Given the description of an element on the screen output the (x, y) to click on. 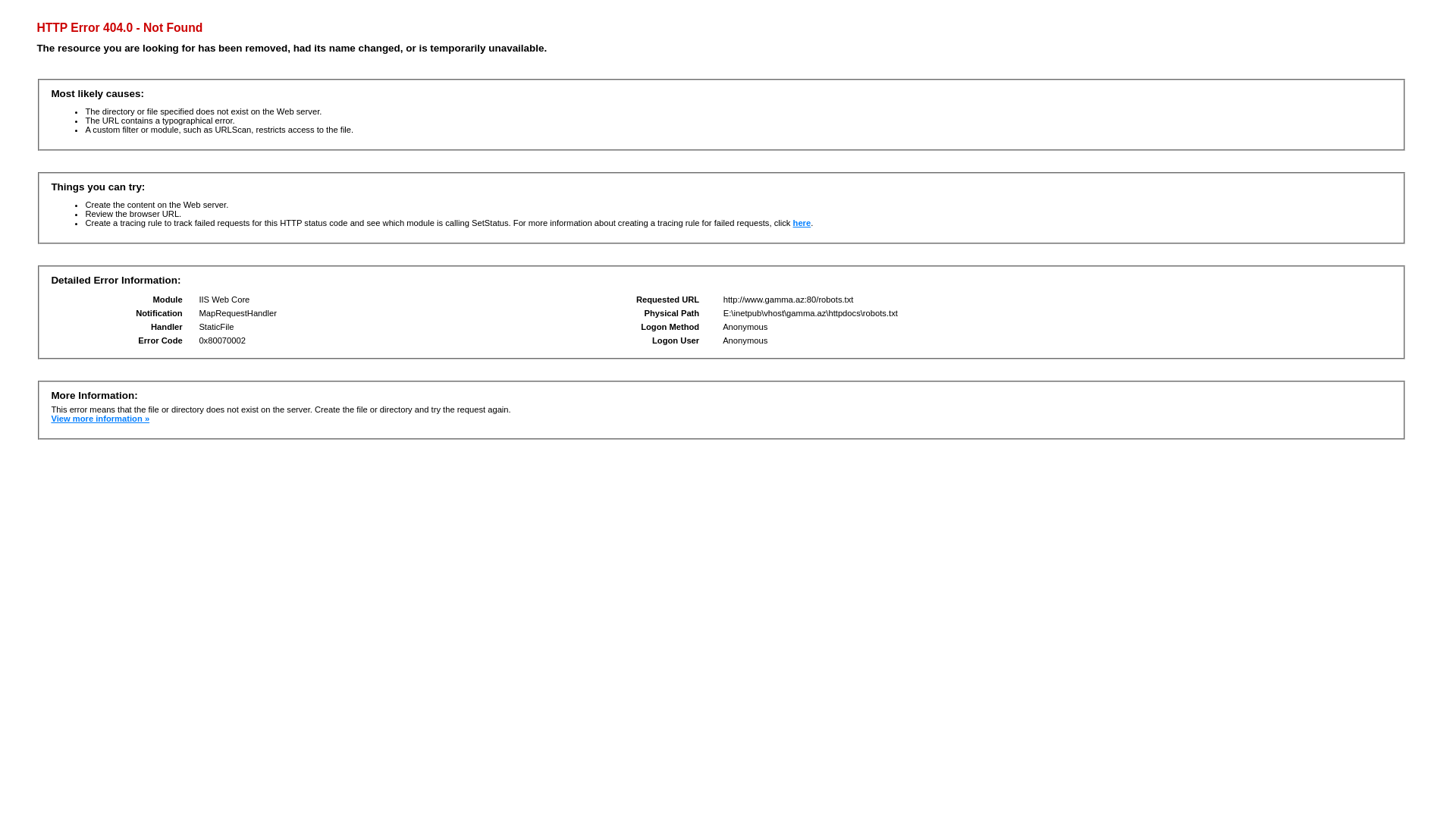
here Element type: text (802, 222)
